Given the description of an element on the screen output the (x, y) to click on. 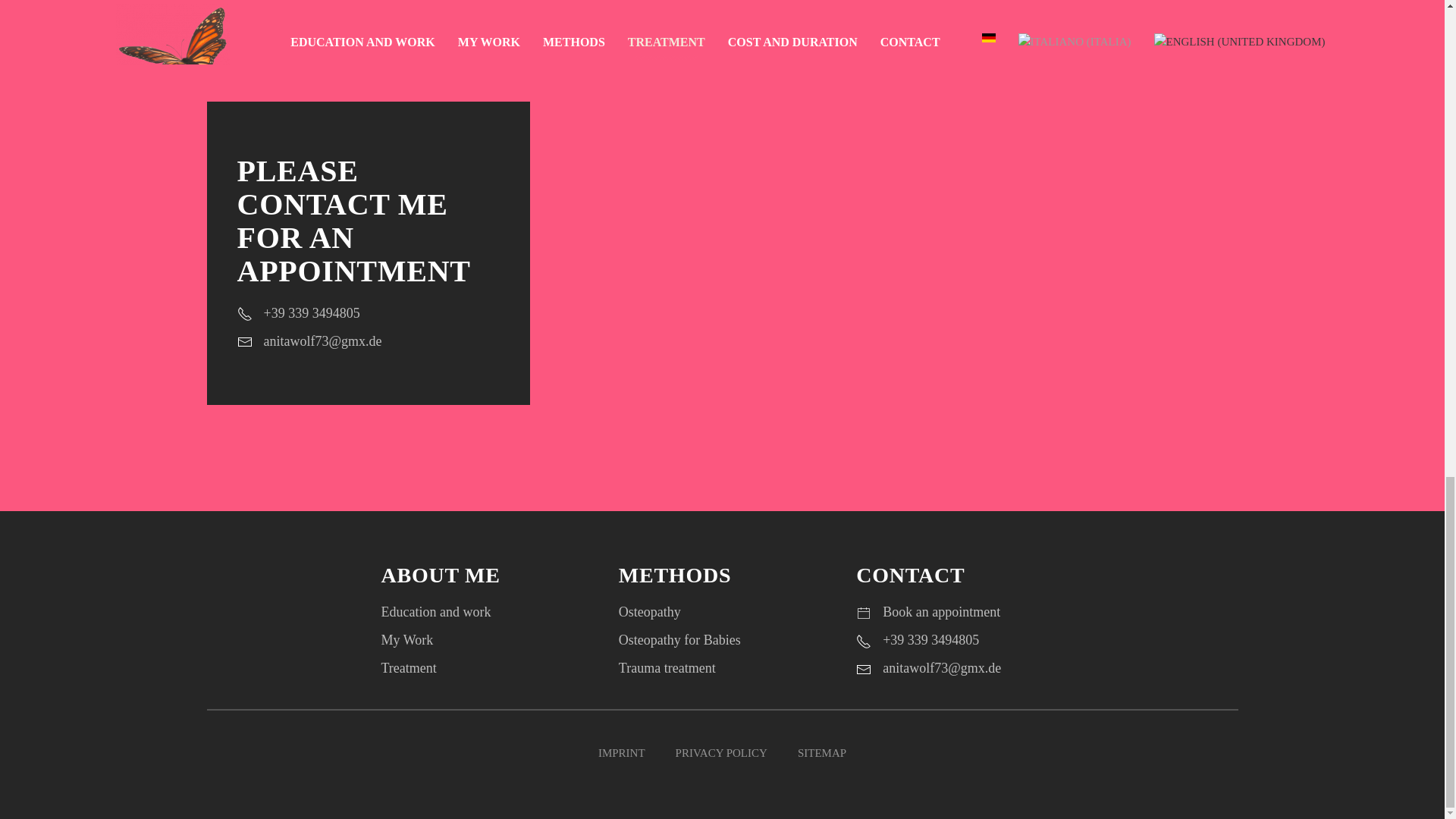
Education and work (435, 611)
PRIVACY POLICY (721, 753)
SITEMAP (821, 753)
Osteopathy for Babies (679, 639)
Treatment (407, 667)
Trauma treatment (667, 667)
IMPRINT (621, 753)
Book an appointment (941, 611)
Osteopathy (649, 611)
My Work (406, 639)
